Given the description of an element on the screen output the (x, y) to click on. 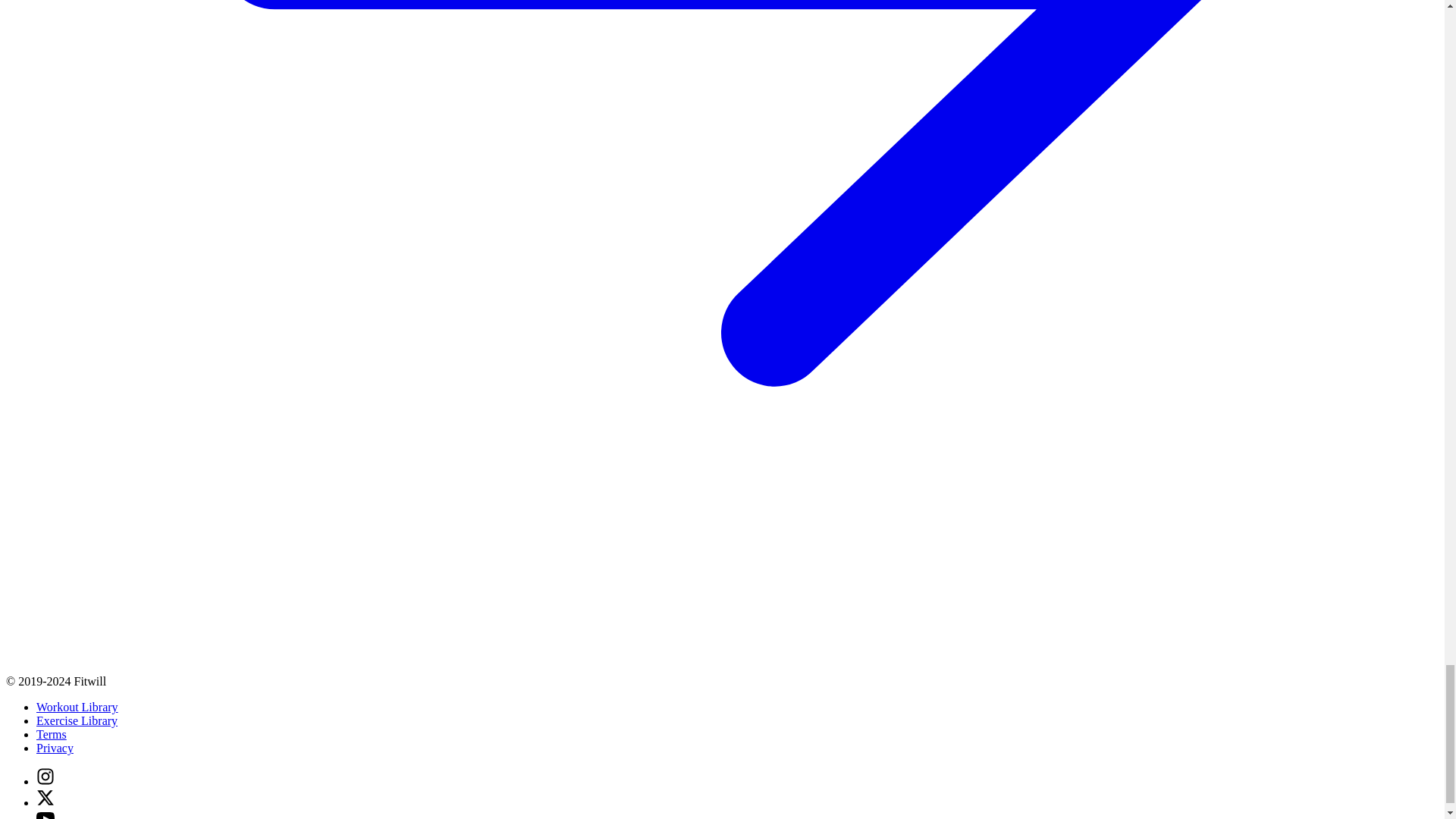
Privacy (55, 748)
Fitwill: Instagram (45, 780)
Terms (51, 734)
Workout Library (76, 707)
Fitwill: X (45, 802)
Exercise Library (76, 720)
